Given the description of an element on the screen output the (x, y) to click on. 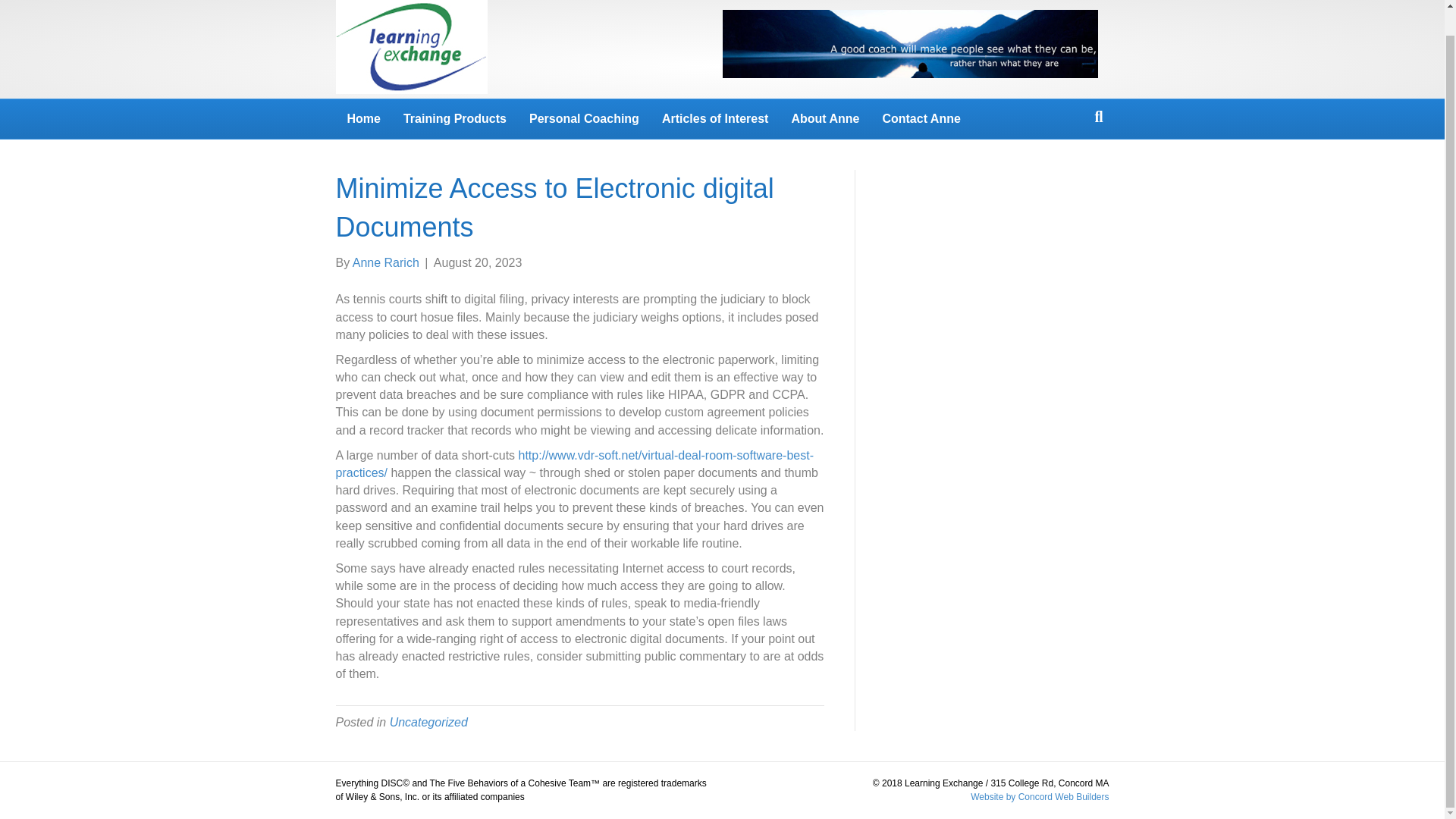
Anne Rarich (385, 262)
Uncategorized (428, 721)
Website by Concord Web Builders (1039, 796)
Training Products (454, 118)
Home (362, 118)
About Anne (824, 118)
Personal Coaching (584, 118)
Articles of Interest (714, 118)
Contact Anne (920, 118)
